Given the description of an element on the screen output the (x, y) to click on. 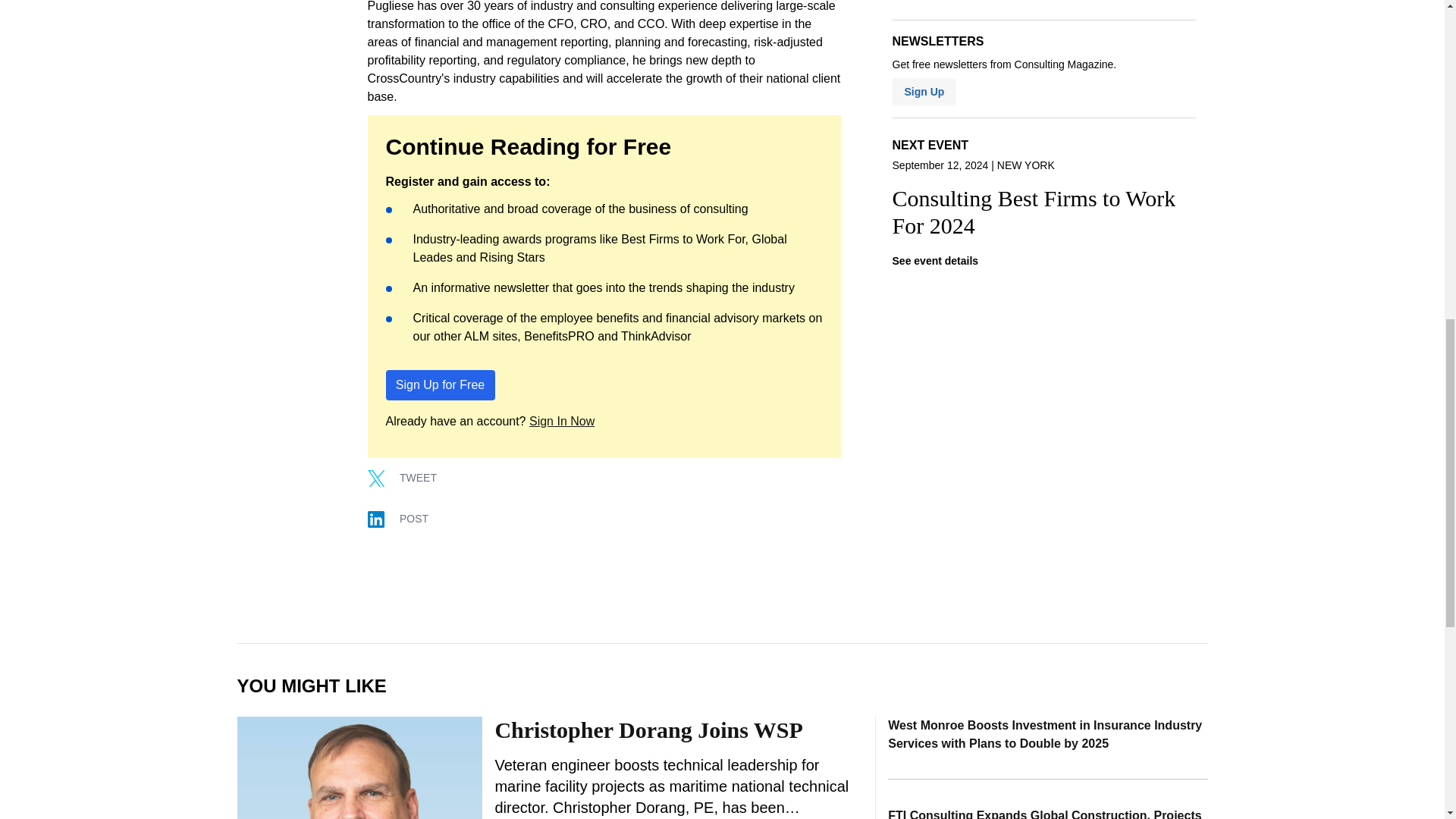
Sign Up (924, 91)
Sign In Now (561, 420)
Consulting Best Firms to Work For 2024 (1043, 211)
See event details (935, 260)
Christopher Dorang Joins WSP (648, 729)
Sign Up for Free (440, 385)
POST (406, 517)
TWEET (410, 477)
Sign Up for Free (440, 383)
Christopher Dorang Joins WSP (358, 767)
